Given the description of an element on the screen output the (x, y) to click on. 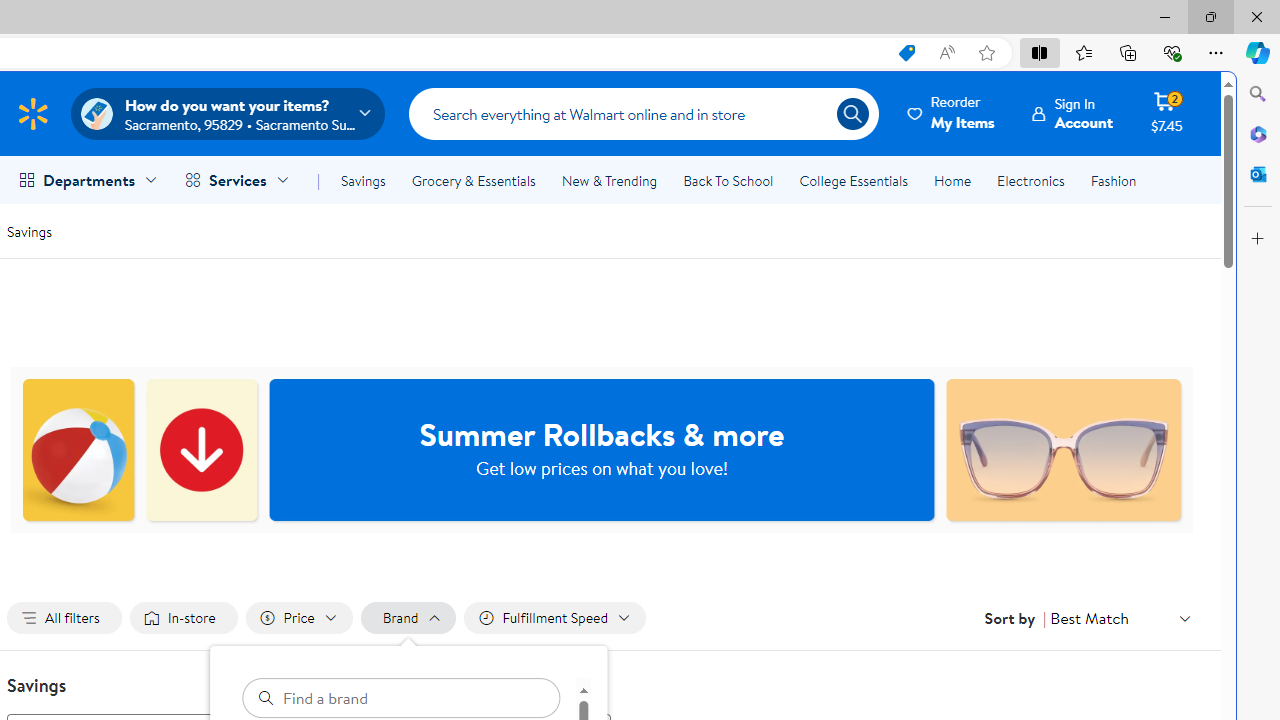
Filter by Fulfillment Speed not applied, activate to change (554, 618)
Sort by Best Match (1120, 618)
Sign In Account (1072, 113)
Filter by Price not applied, activate to change (298, 618)
Class: ld ld-ChevronDown pa0 ml6 (1184, 618)
Home (952, 180)
